Given the description of an element on the screen output the (x, y) to click on. 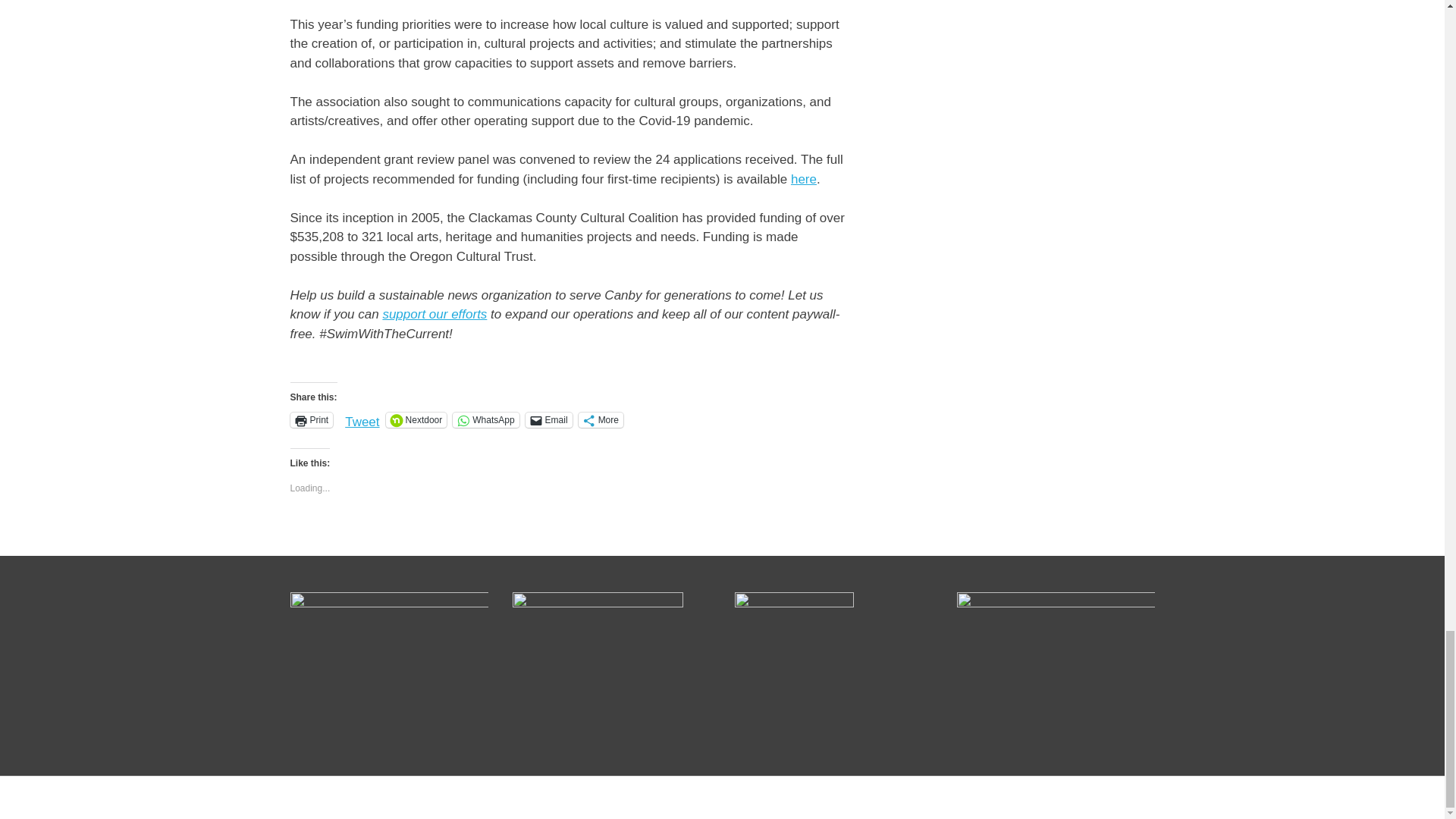
Click to print (311, 419)
Click to share on Nextdoor (415, 419)
Click to share on WhatsApp (485, 419)
Click to email a link to a friend (548, 419)
